Given the description of an element on the screen output the (x, y) to click on. 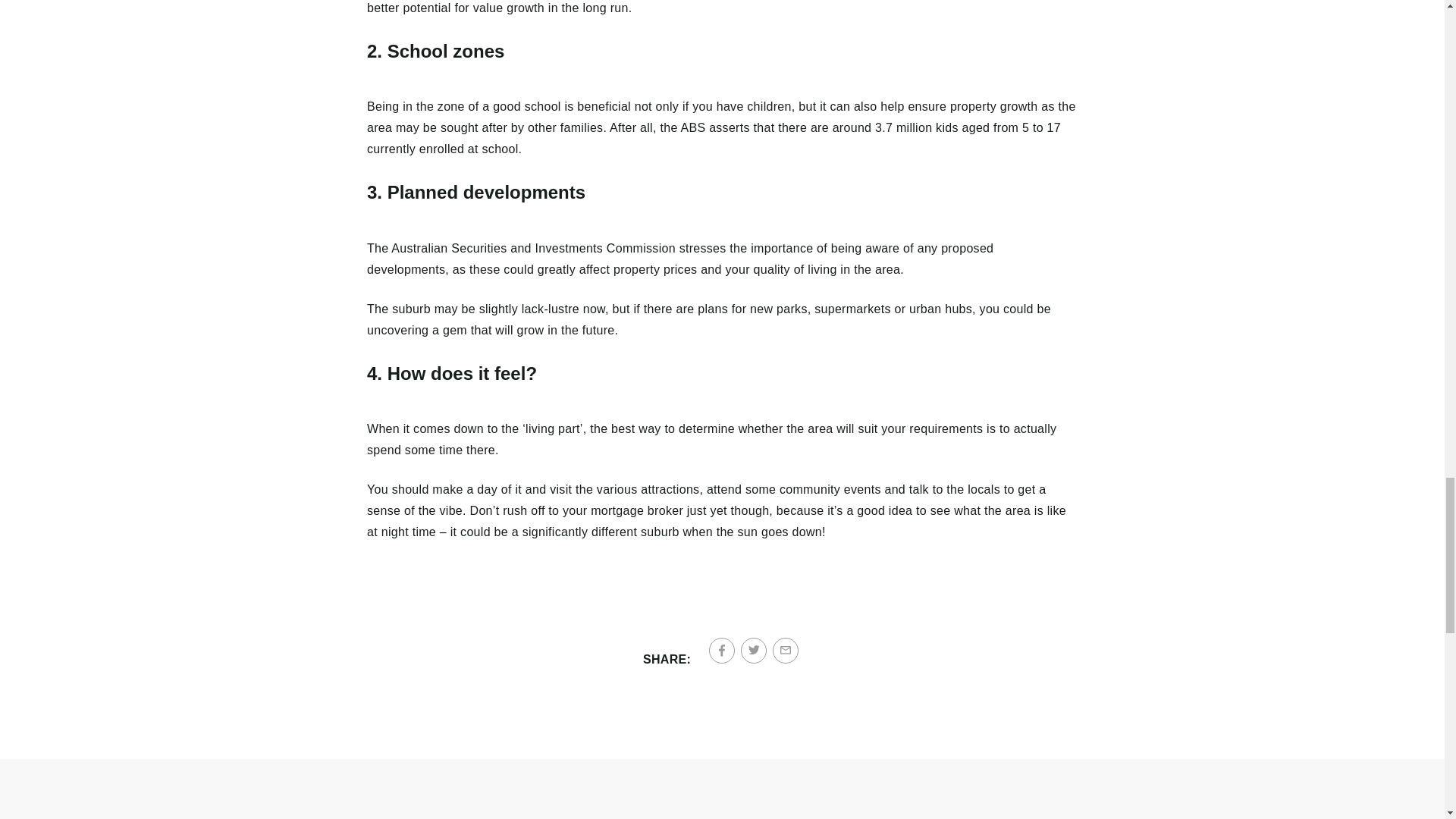
Facebook (722, 650)
Email (785, 650)
Twitter (754, 650)
